Given the description of an element on the screen output the (x, y) to click on. 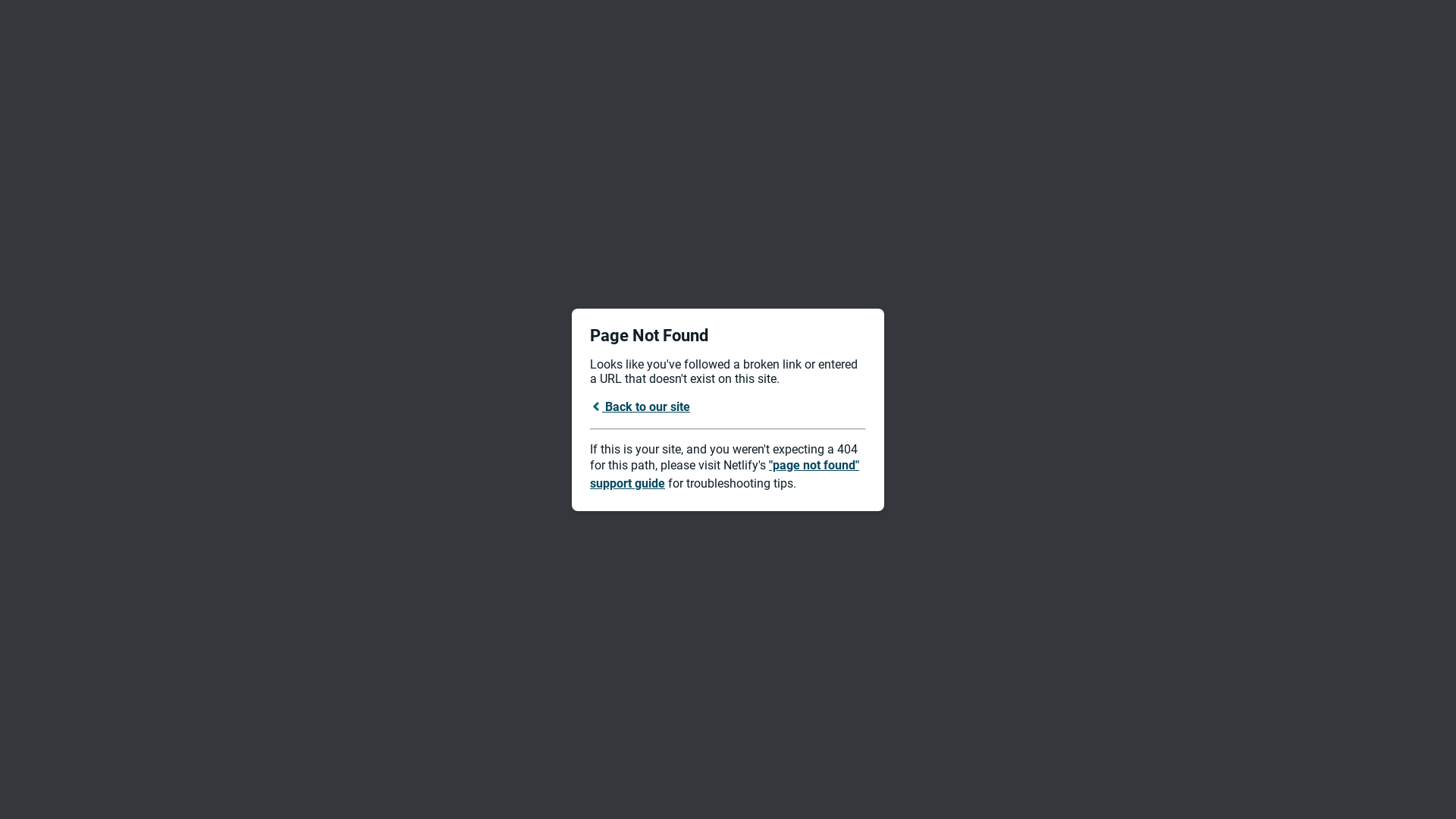
"page not found" support guide Element type: text (724, 474)
Back to our site Element type: text (639, 405)
